Given the description of an element on the screen output the (x, y) to click on. 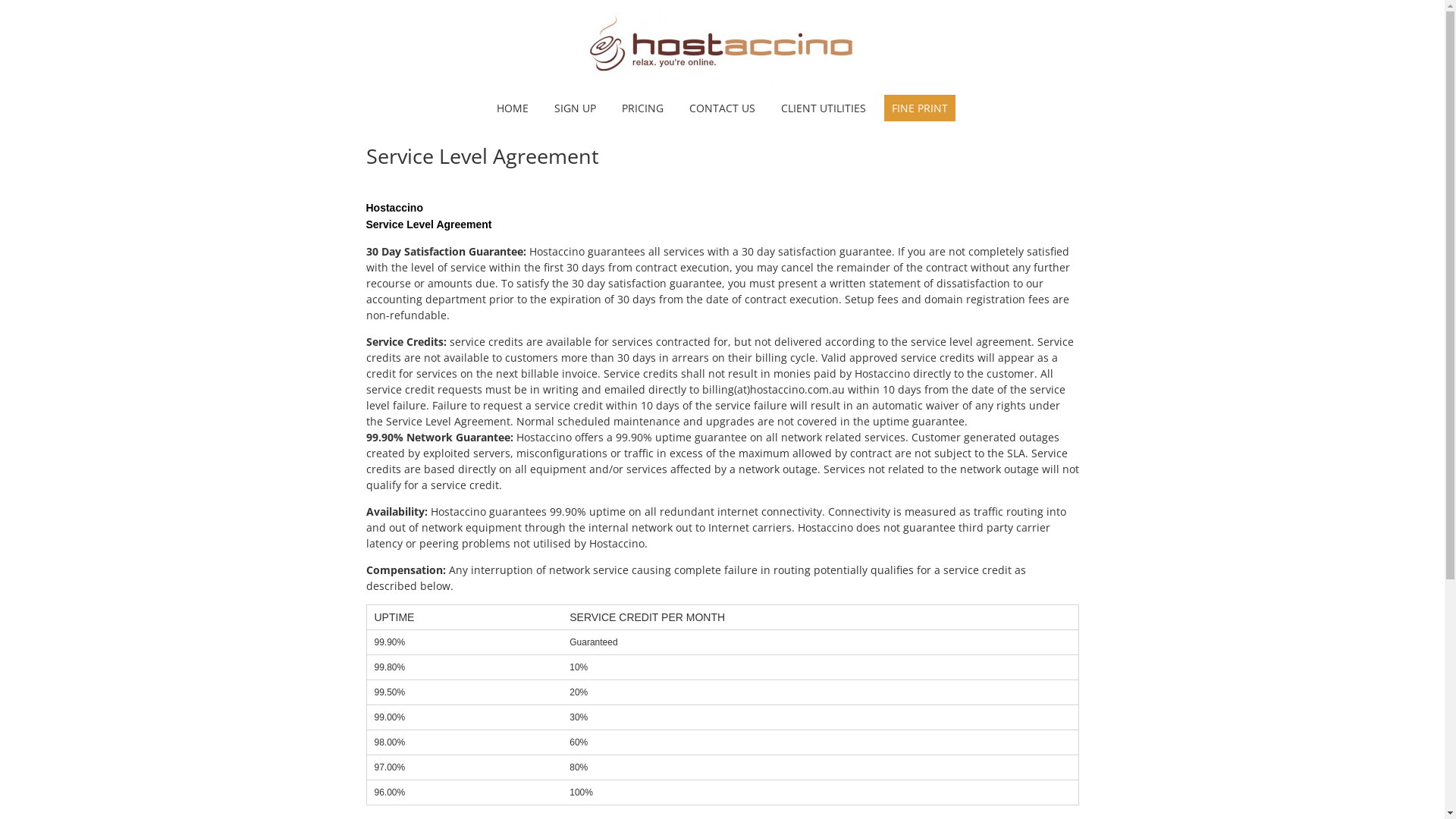
Hostaccino Element type: hover (722, 79)
CONTACT US Element type: text (721, 107)
HOME Element type: text (512, 107)
FINE PRINT Element type: text (919, 107)
PRICING Element type: text (642, 107)
SIGN UP Element type: text (574, 107)
CLIENT UTILITIES Element type: text (823, 107)
